Given the description of an element on the screen output the (x, y) to click on. 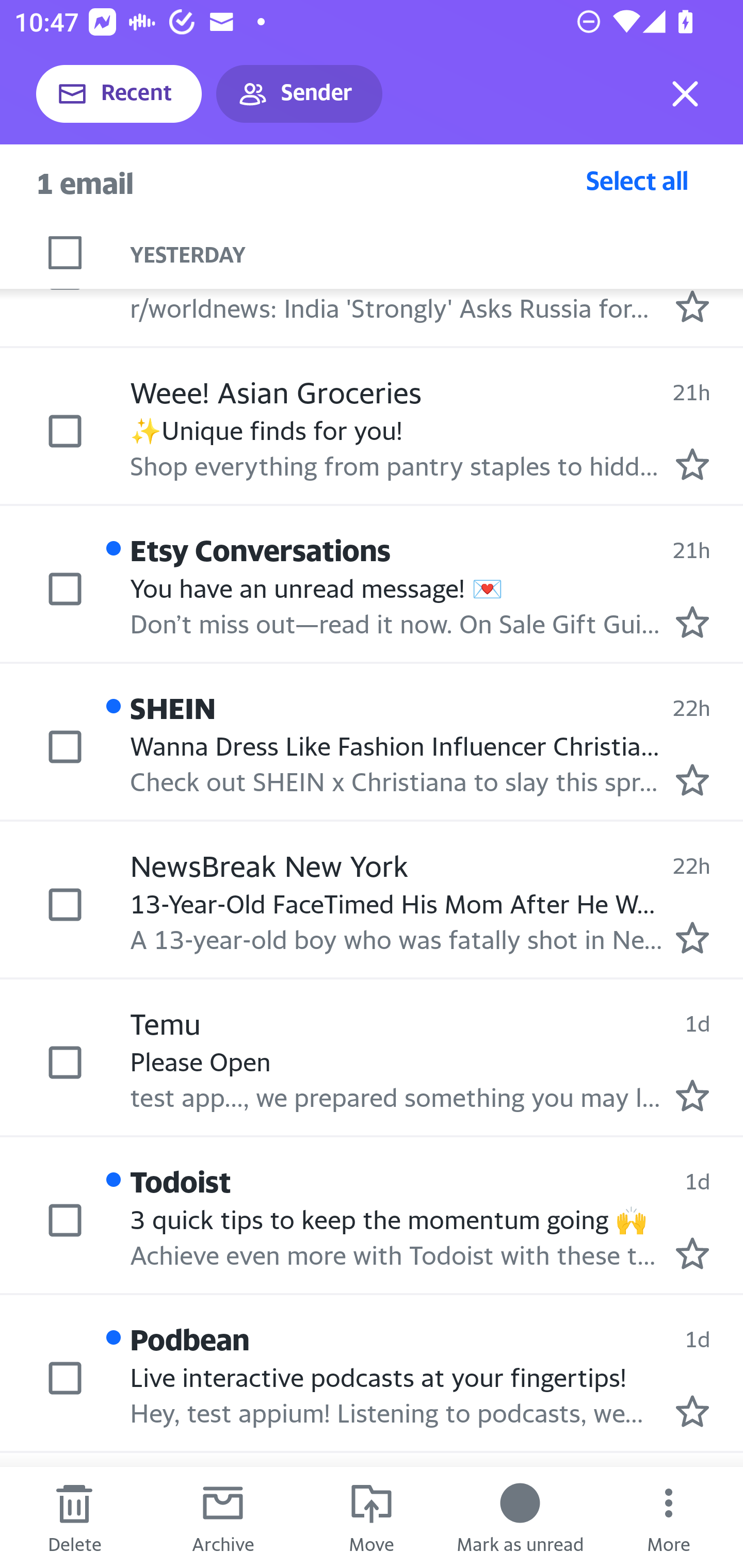
Sender (299, 93)
Exit selection mode (684, 93)
Select all (637, 180)
Mark as starred. (692, 306)
Mark as starred. (692, 464)
Mark as starred. (692, 621)
Mark as starred. (692, 780)
Mark as starred. (692, 938)
Mark as starred. (692, 1095)
Mark as starred. (692, 1253)
Mark as starred. (692, 1411)
Delete (74, 1517)
Archive (222, 1517)
Move (371, 1517)
Mark as unread (519, 1517)
More (668, 1517)
